Given the description of an element on the screen output the (x, y) to click on. 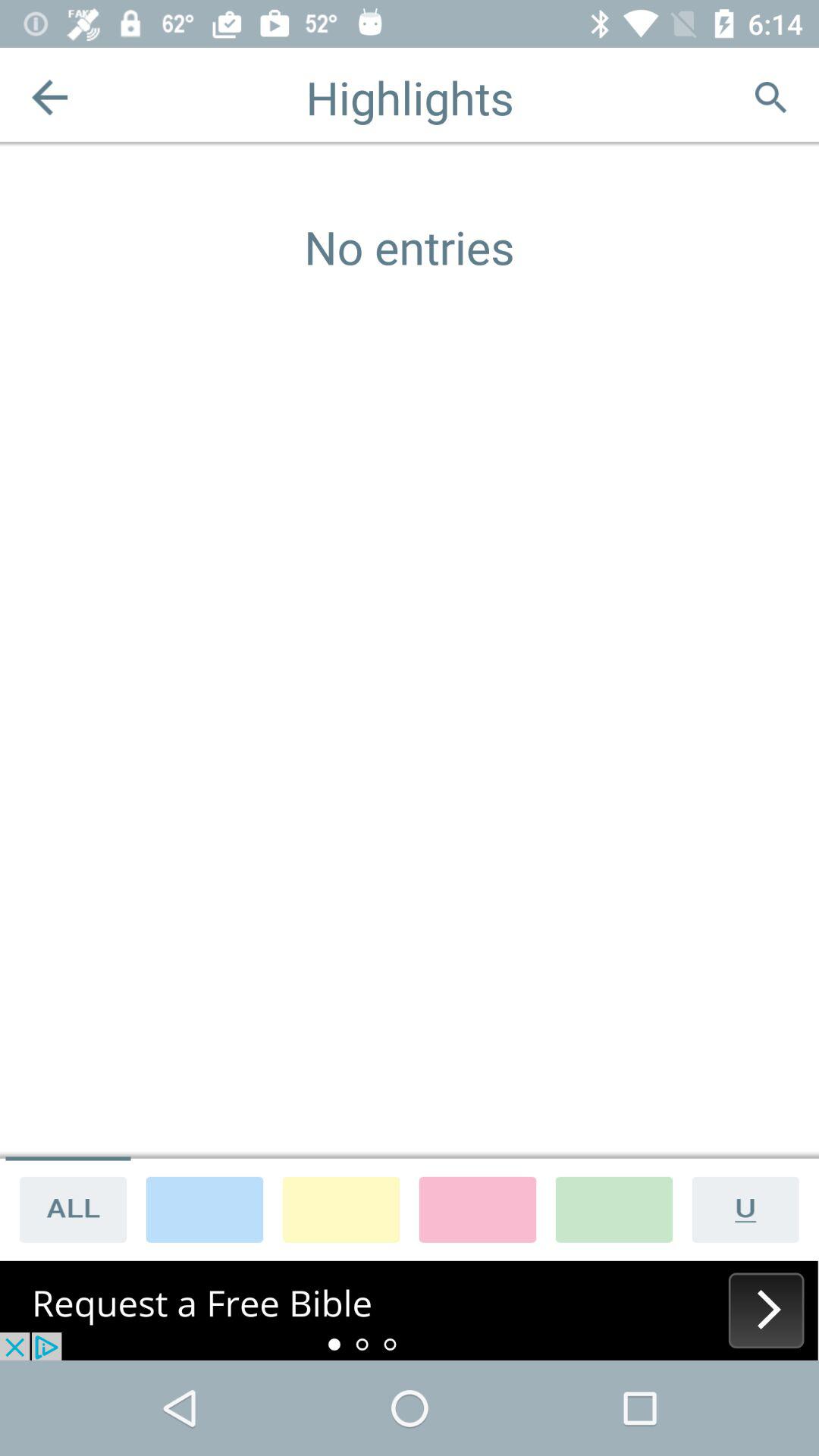
change background color (614, 1208)
